Given the description of an element on the screen output the (x, y) to click on. 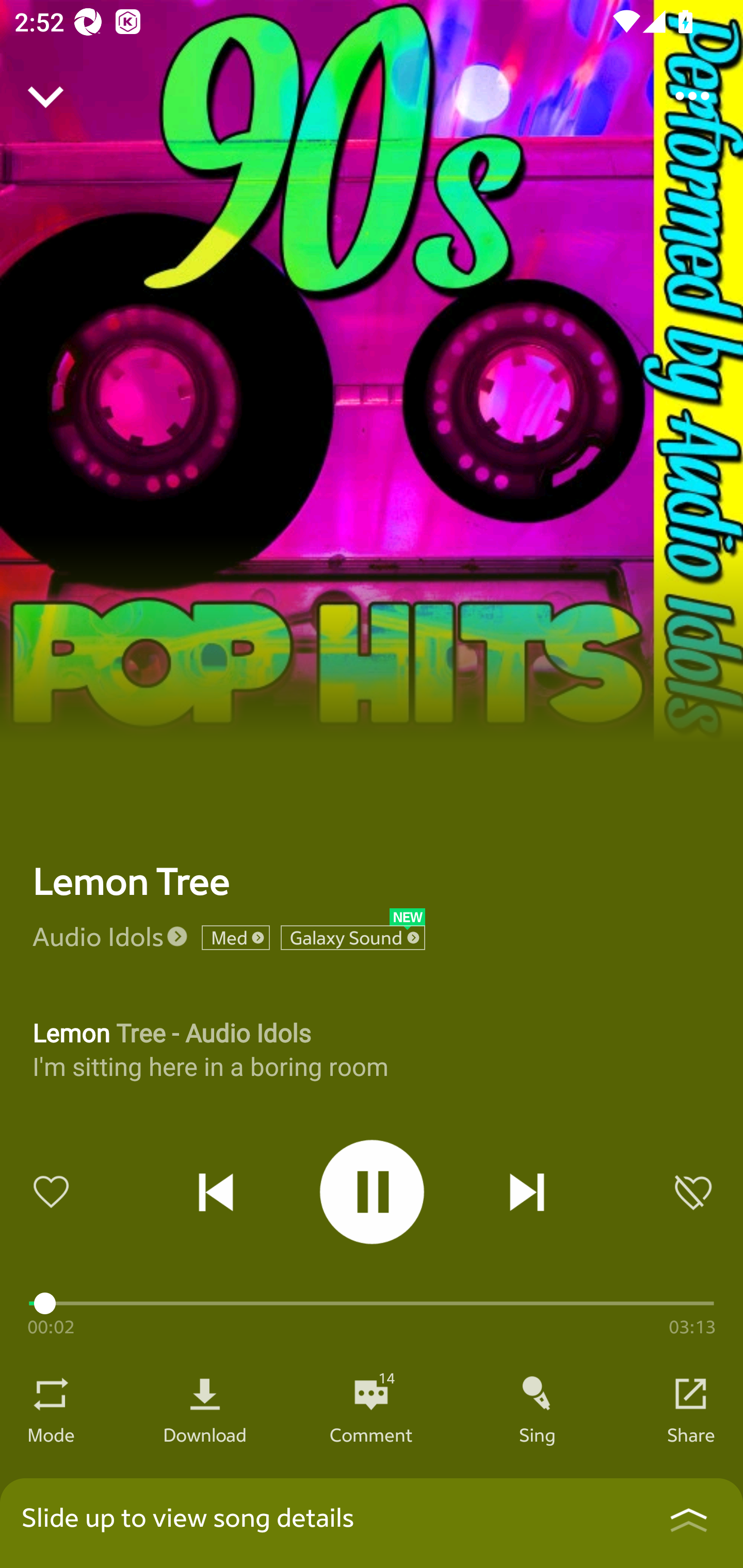
Lemon Tree (131, 881)
Audio Idols (97, 935)
Med (235, 937)
Galaxy Sound (352, 937)
14 (371, 1393)
Mode (51, 1434)
Download (204, 1434)
Comment (370, 1434)
Sing (537, 1434)
Share (691, 1434)
Slide up to view song details (371, 1523)
